Given the description of an element on the screen output the (x, y) to click on. 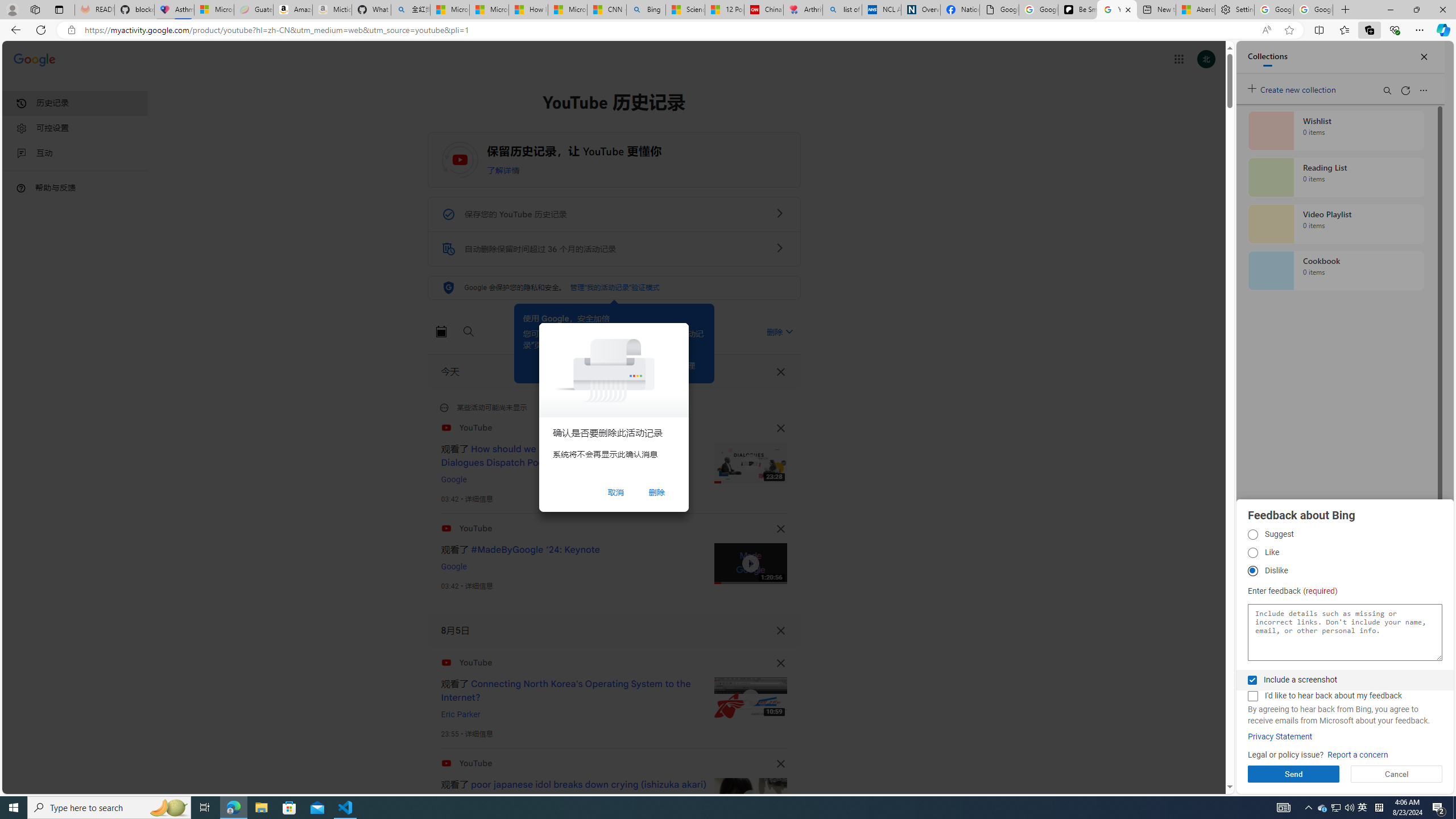
How I Got Rid of Microsoft Edge's Unnecessary Features (528, 9)
Science - MSN (685, 9)
AutomationID: fbpgdgtp3 (1252, 570)
Privacy Statement (1280, 737)
AutomationID: fbpgdgtp1 (1252, 534)
